Given the description of an element on the screen output the (x, y) to click on. 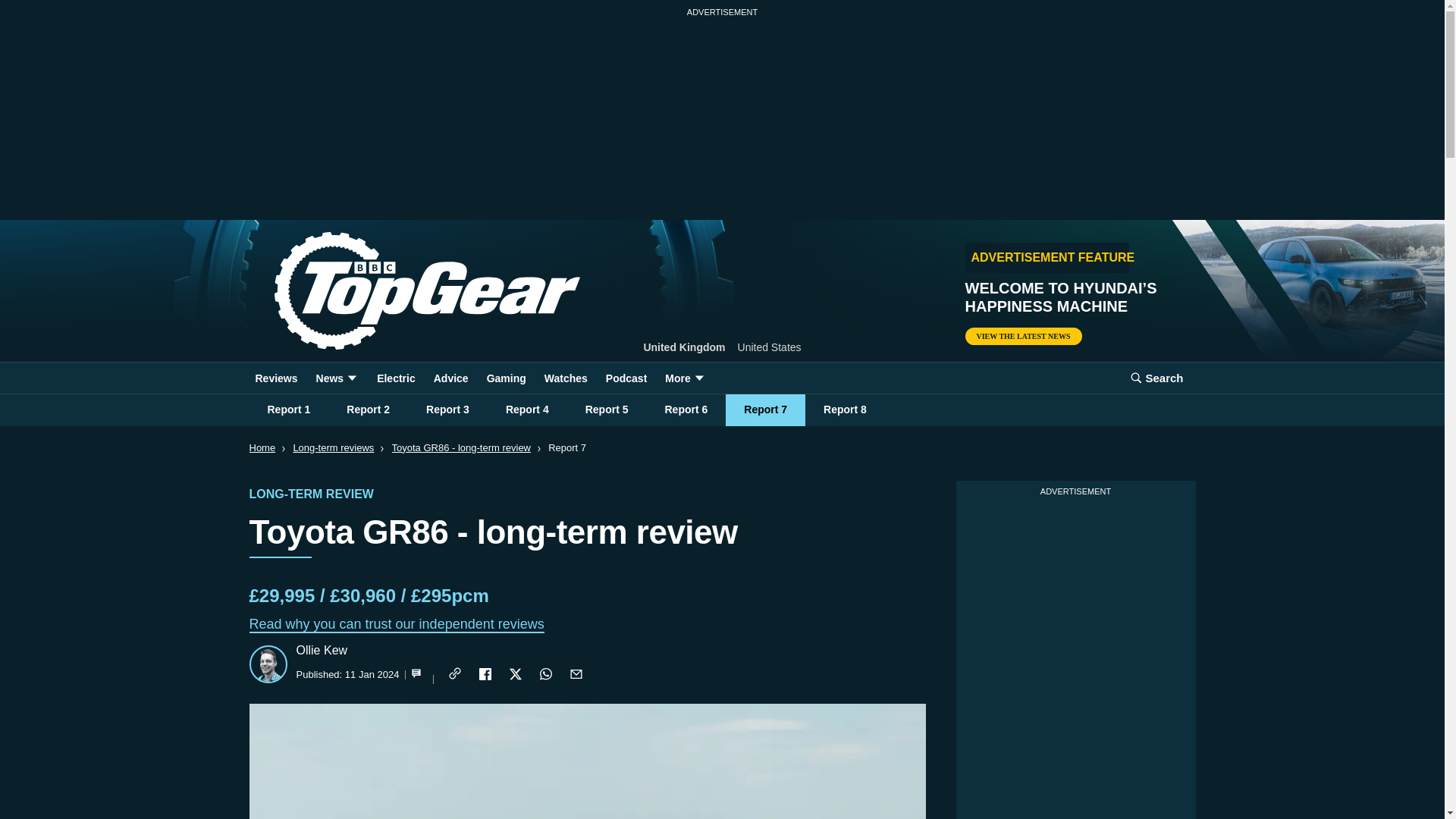
VIEW THE LATEST NEWS (1022, 335)
United States (770, 347)
Gaming (506, 377)
Report 2 (368, 409)
United Kingdom (684, 347)
Search (1156, 377)
Reviews (275, 377)
Report 4 (527, 409)
Report 1 (288, 409)
More (685, 377)
Report 5 (606, 409)
Advice (451, 377)
Search (1156, 377)
Report 3 (447, 409)
Electric (396, 377)
